Given the description of an element on the screen output the (x, y) to click on. 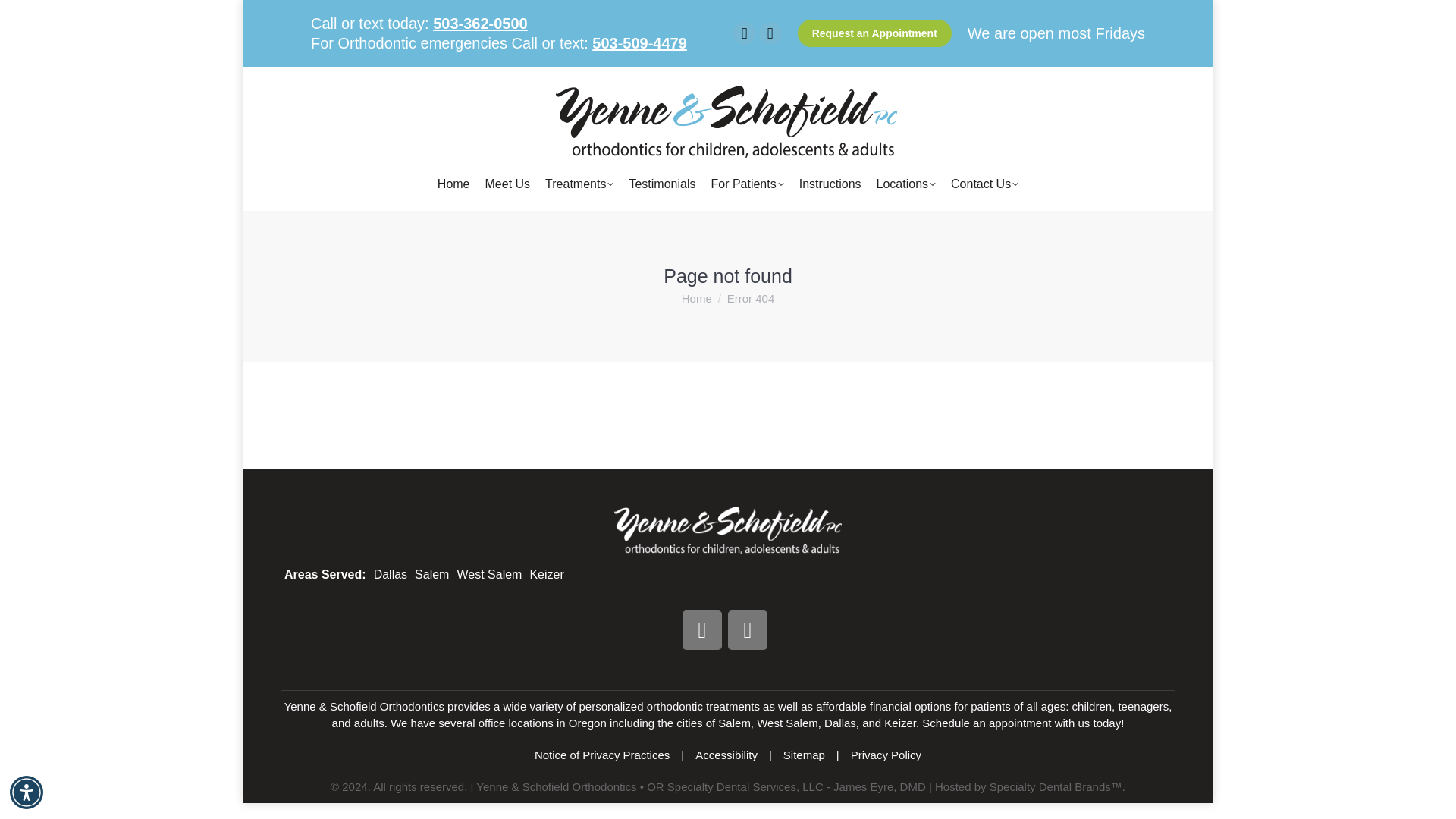
For Patients (746, 183)
Instagram page opens in new window (769, 33)
Home (453, 183)
503-362-0500 (479, 23)
503-509-4479 (639, 43)
Testimonials (661, 183)
Facebook (702, 630)
Instagram page opens in new window (769, 33)
Meet Us (507, 183)
Request an Appointment (874, 32)
Treatments (579, 183)
Home (696, 297)
Instagram (747, 630)
Facebook page opens in new window (744, 33)
Facebook page opens in new window (744, 33)
